Given the description of an element on the screen output the (x, y) to click on. 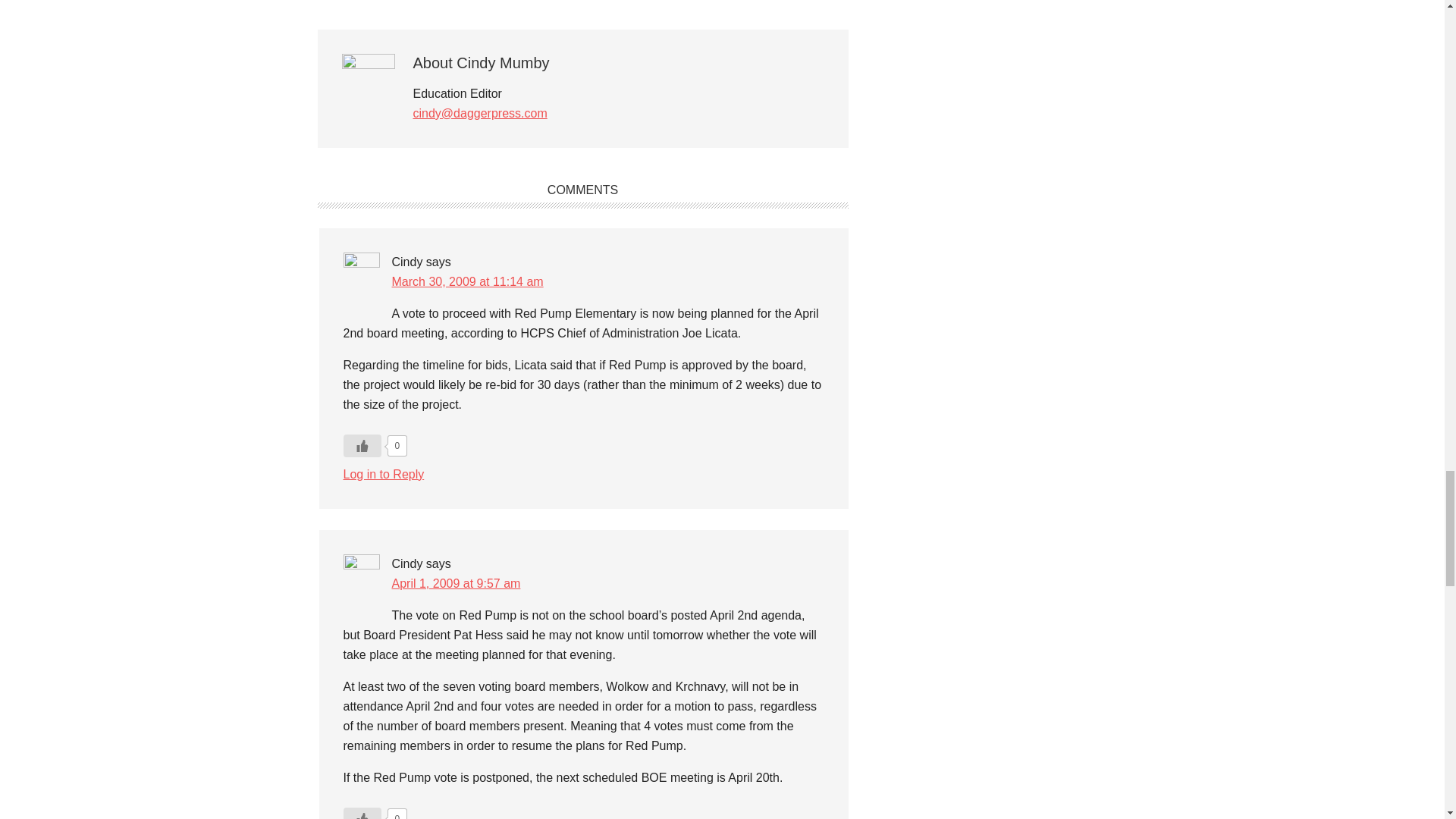
March 30, 2009 at 11:14 am (467, 281)
April 1, 2009 at 9:57 am (455, 583)
Log in to Reply (382, 473)
